Given the description of an element on the screen output the (x, y) to click on. 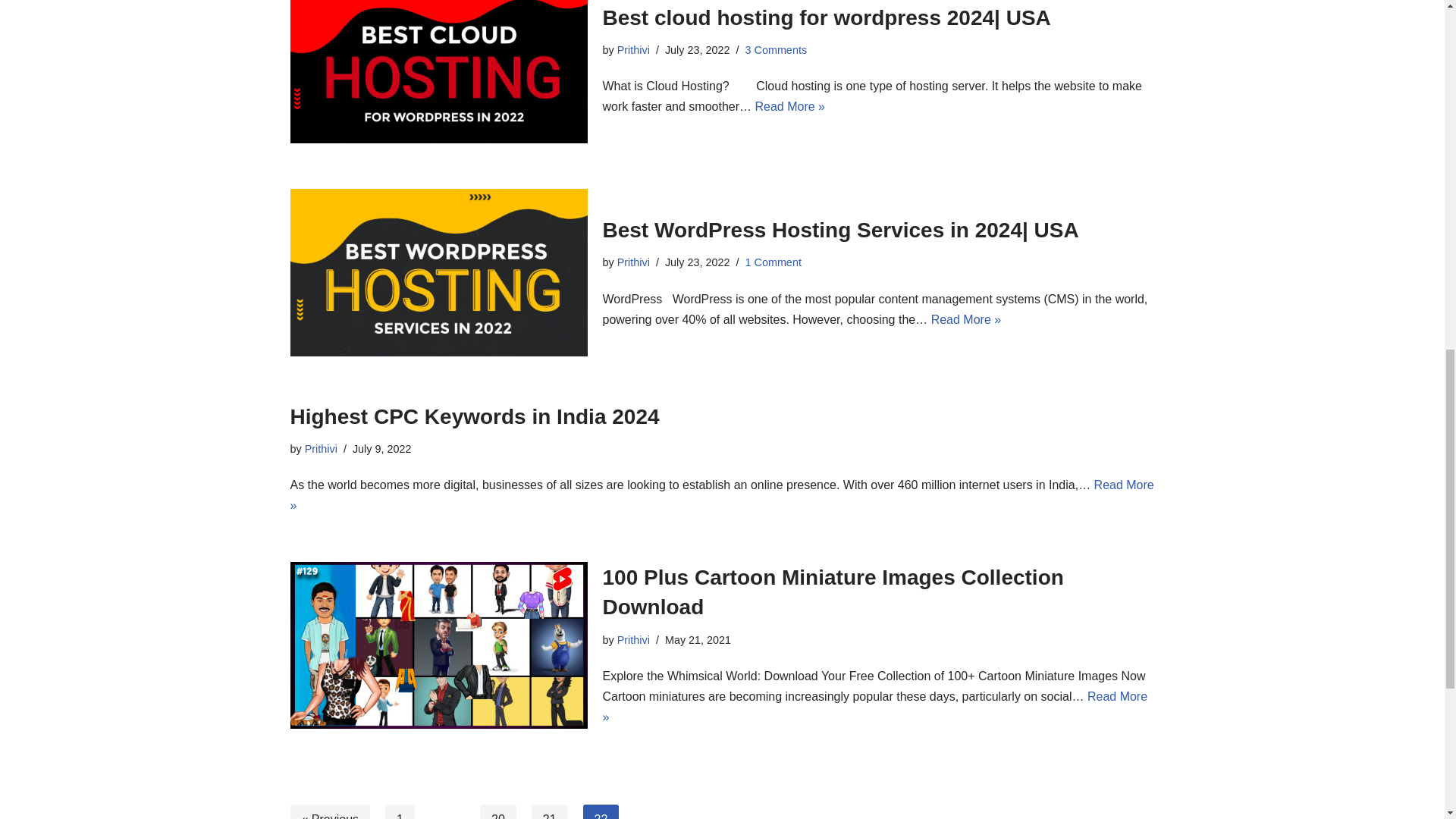
3 Comments (775, 50)
Posts by Prithivi (633, 262)
100 Plus Cartoon Miniature Images Collection Download (437, 645)
Prithivi (633, 50)
Posts by Prithivi (633, 50)
Posts by Prithivi (633, 639)
Prithivi (633, 262)
Posts by Prithivi (320, 449)
